Given the description of an element on the screen output the (x, y) to click on. 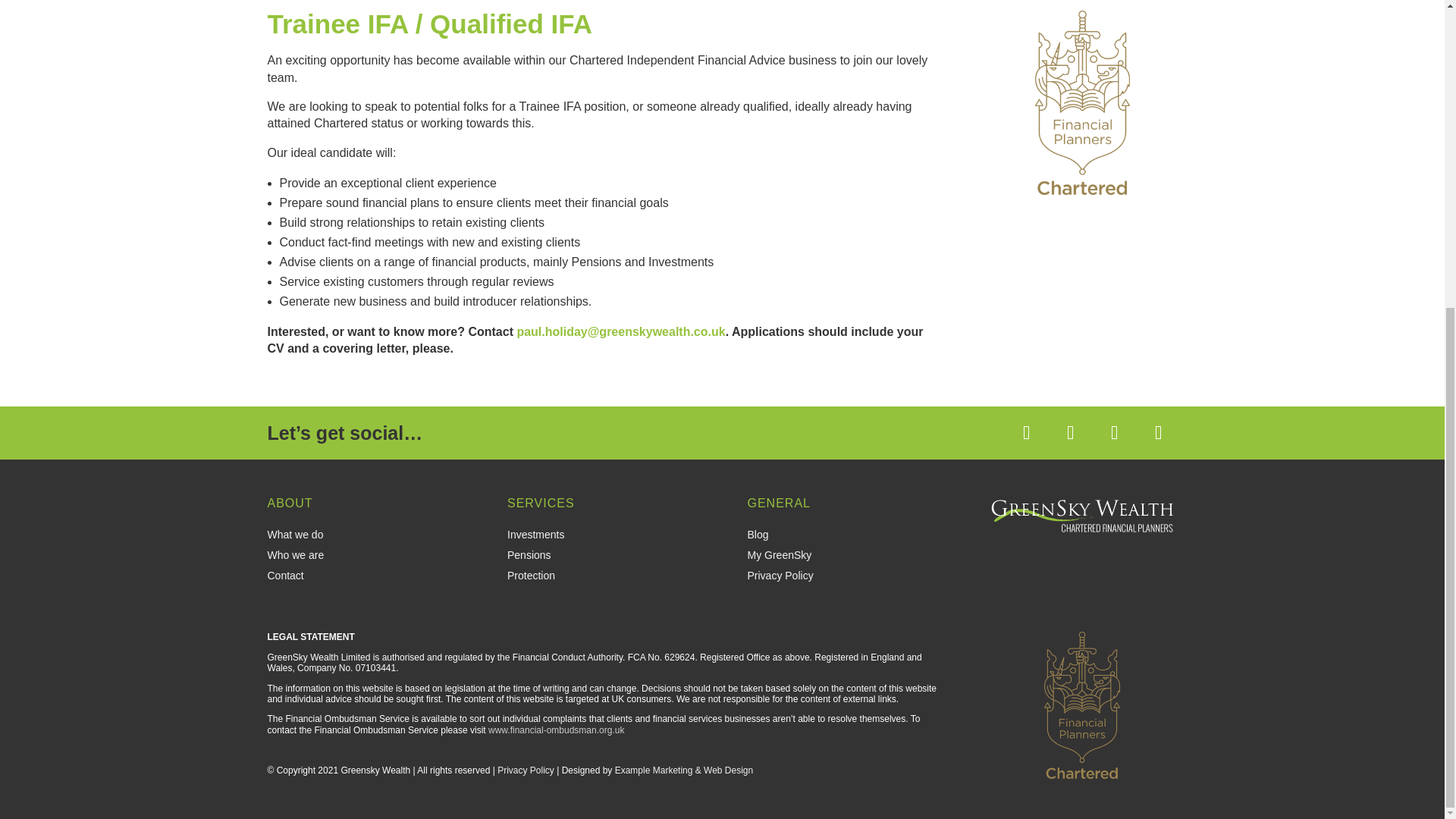
Privacy Policy (525, 769)
Follow on LinkedIn (1113, 433)
www.financial-ombudsman.org.uk (555, 729)
Follow on Facebook (1026, 433)
Follow on X (1070, 433)
Follow on Instagram (1157, 433)
